Given the description of an element on the screen output the (x, y) to click on. 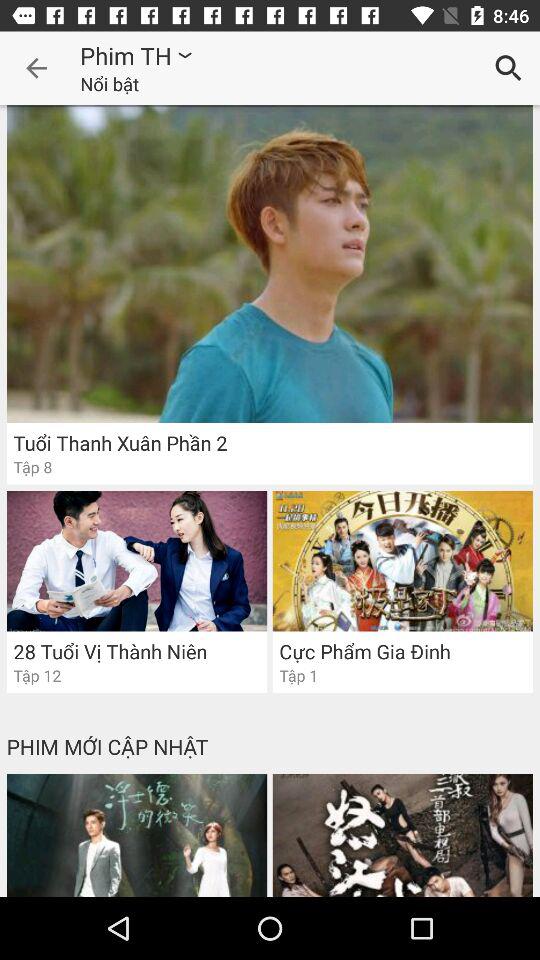
tap icon at the top right corner (508, 67)
